Given the description of an element on the screen output the (x, y) to click on. 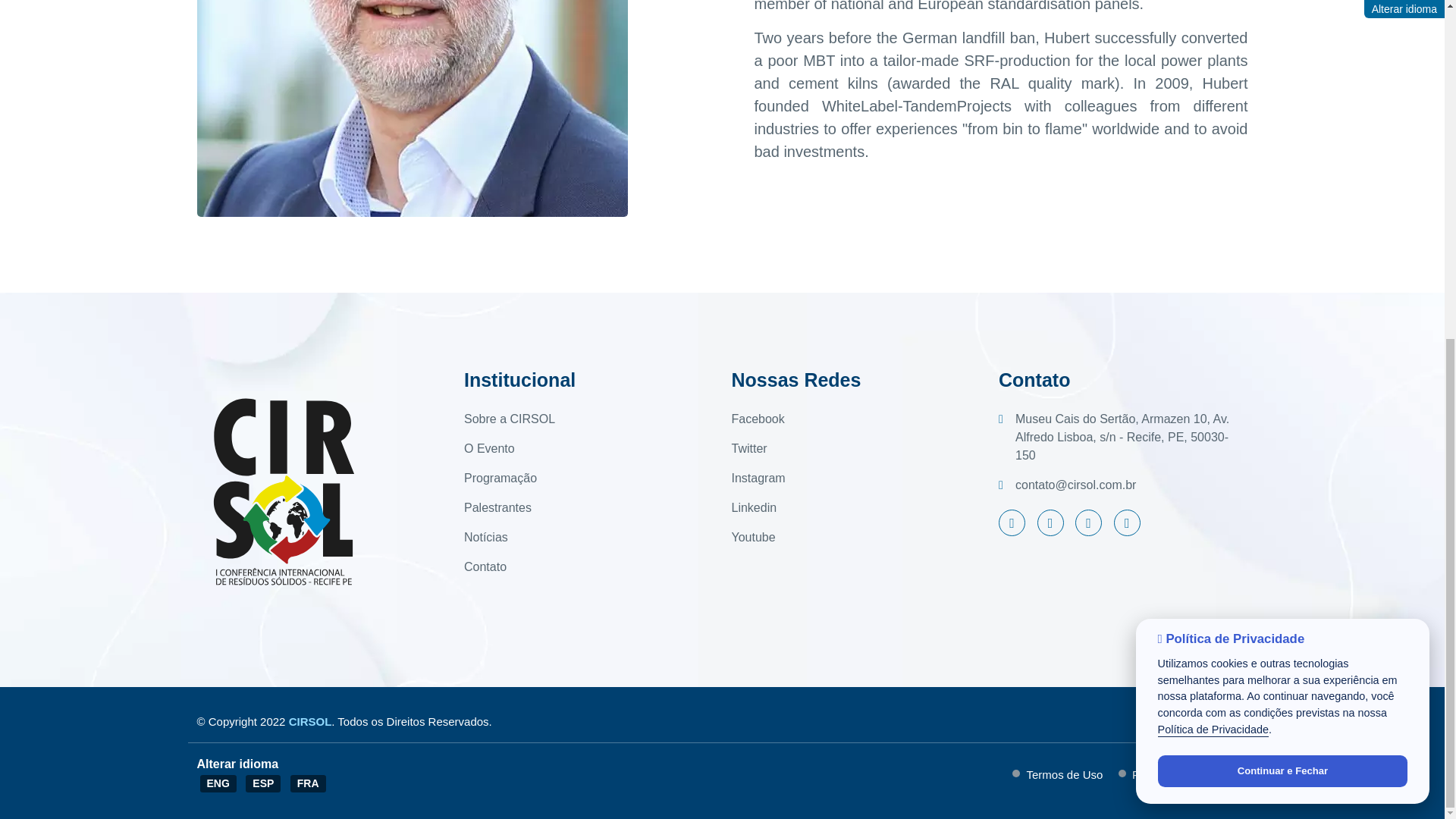
Facebook (757, 419)
O Evento (489, 448)
Sobre a CIRSOL (509, 419)
Contato (485, 566)
Twitter (748, 448)
Palestrantes (497, 507)
